Given the description of an element on the screen output the (x, y) to click on. 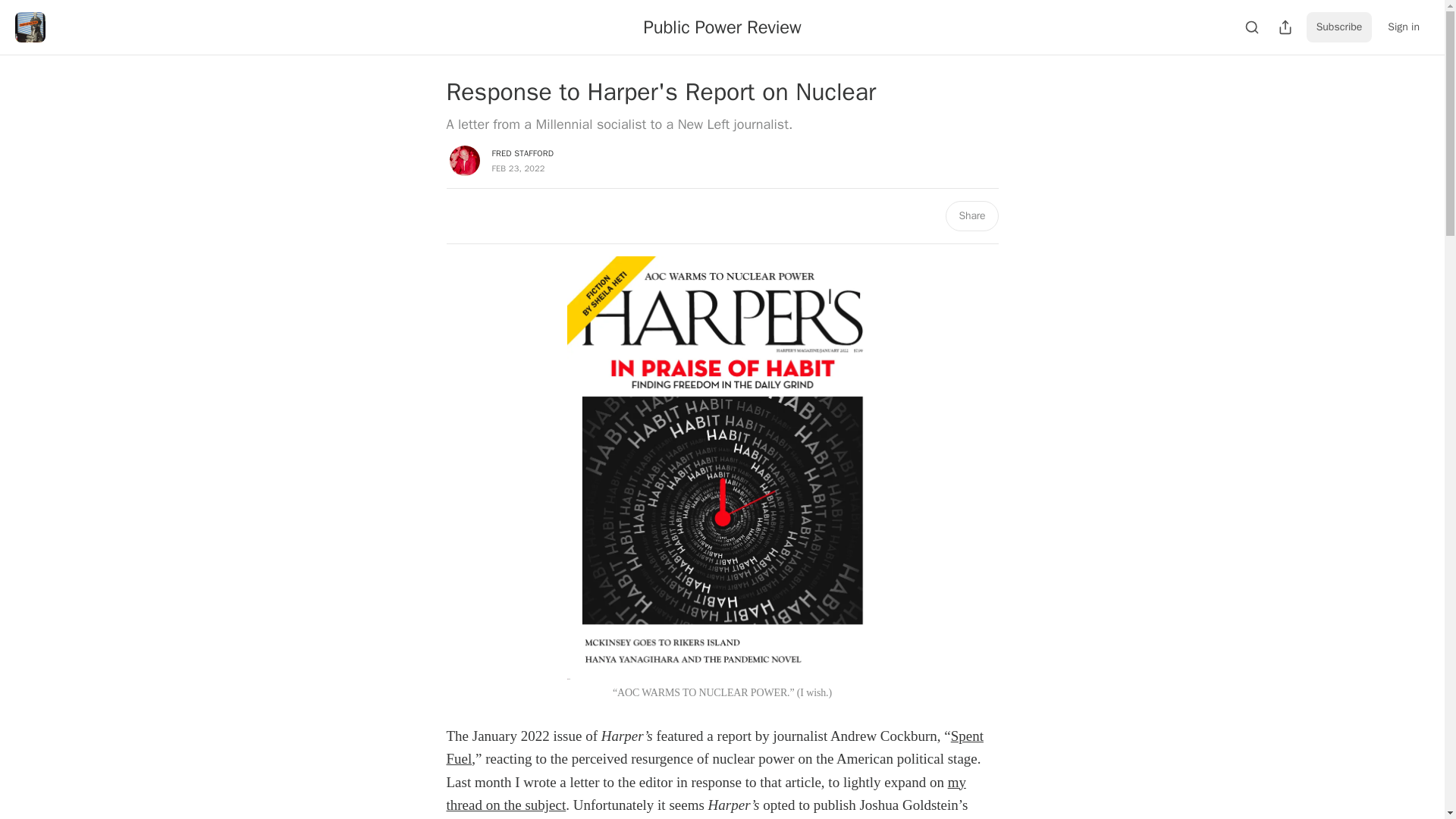
Spent Fuel (714, 747)
Share (970, 215)
Subscribe (1339, 27)
Public Power Review (721, 26)
my thread on the subject (705, 793)
FRED STAFFORD (522, 153)
Sign in (1403, 27)
